Given the description of an element on the screen output the (x, y) to click on. 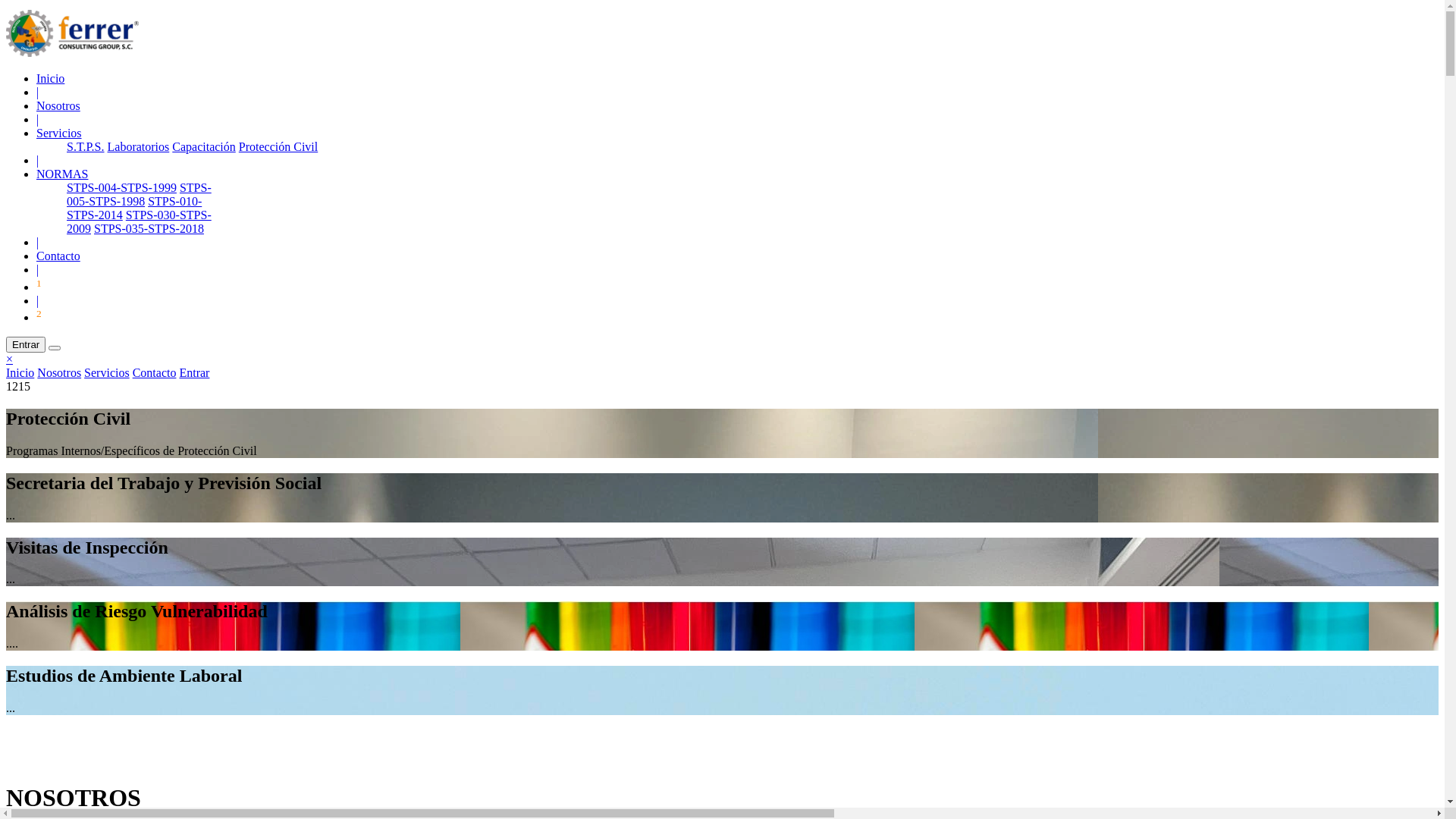
Entrar Element type: text (25, 344)
Entrar Element type: text (25, 343)
Laboratorios Element type: text (138, 146)
1 Element type: text (38, 286)
Entrar Element type: text (193, 372)
STPS-030-STPS-2009 Element type: text (138, 221)
STPS-035-STPS-2018 Element type: text (148, 228)
Nosotros Element type: text (59, 372)
| Element type: text (37, 159)
STPS-005-STPS-1998 Element type: text (138, 194)
| Element type: text (37, 300)
| Element type: text (37, 91)
Nosotros Element type: text (58, 105)
Inicio Element type: text (20, 372)
NORMAS Element type: text (61, 173)
Servicios Element type: text (106, 372)
| Element type: text (37, 241)
STPS-004-STPS-1999 Element type: text (121, 187)
S.T.P.S. Element type: text (85, 146)
2 Element type: text (38, 316)
Contacto Element type: text (154, 372)
STPS-010-STPS-2014 Element type: text (133, 207)
| Element type: text (37, 118)
Inicio Element type: text (50, 78)
| Element type: text (37, 269)
Servicios Element type: text (58, 132)
Contacto Element type: text (58, 255)
